Given the description of an element on the screen output the (x, y) to click on. 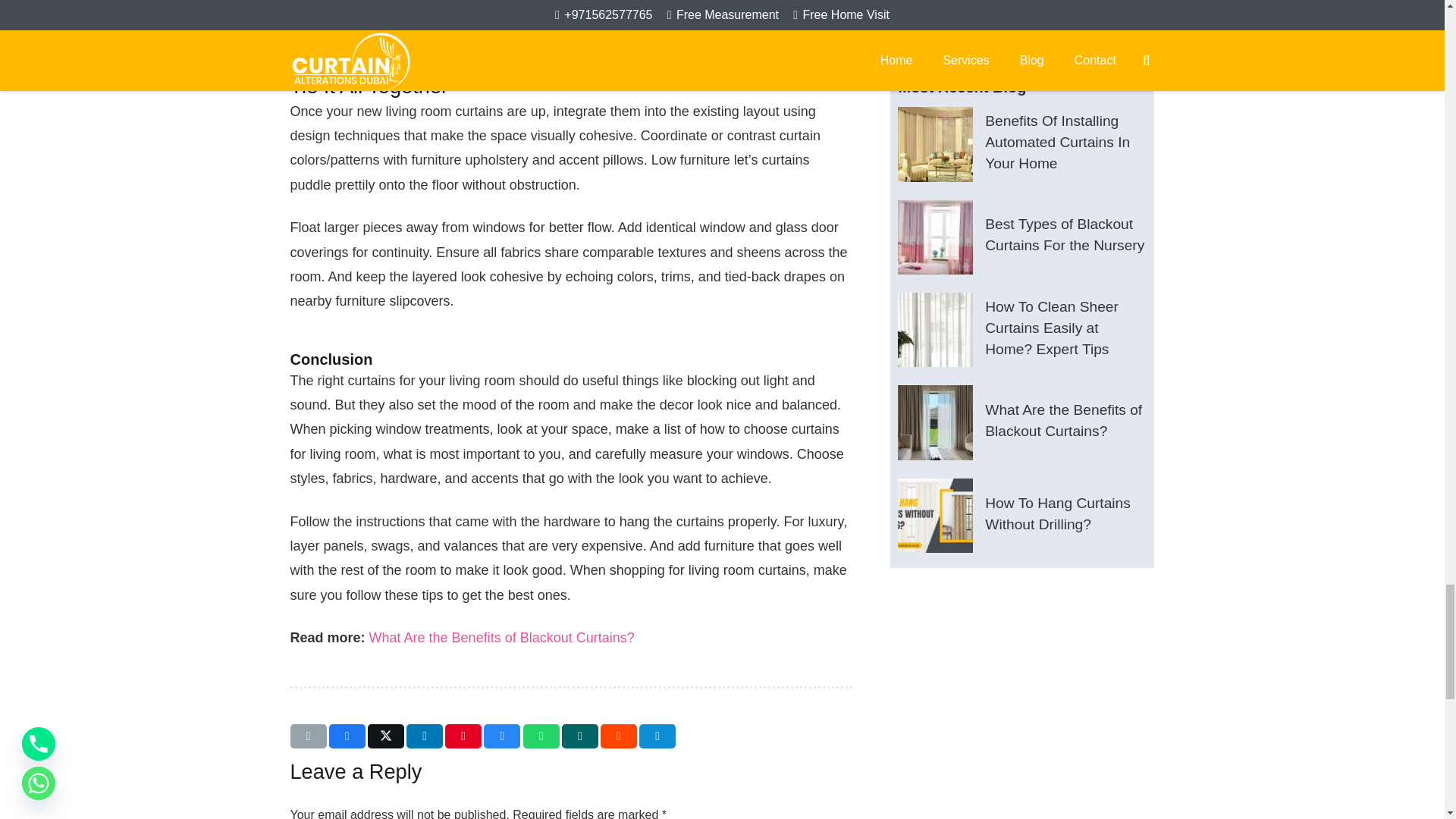
Share this (501, 735)
Share this (618, 735)
Share this (657, 735)
Email this (307, 735)
Share this (540, 735)
Share this (424, 735)
Share this (347, 735)
Pin this (463, 735)
What Are the Benefits of Blackout Curtains? (501, 637)
Tweet this (386, 735)
Share this (580, 735)
